Given the description of an element on the screen output the (x, y) to click on. 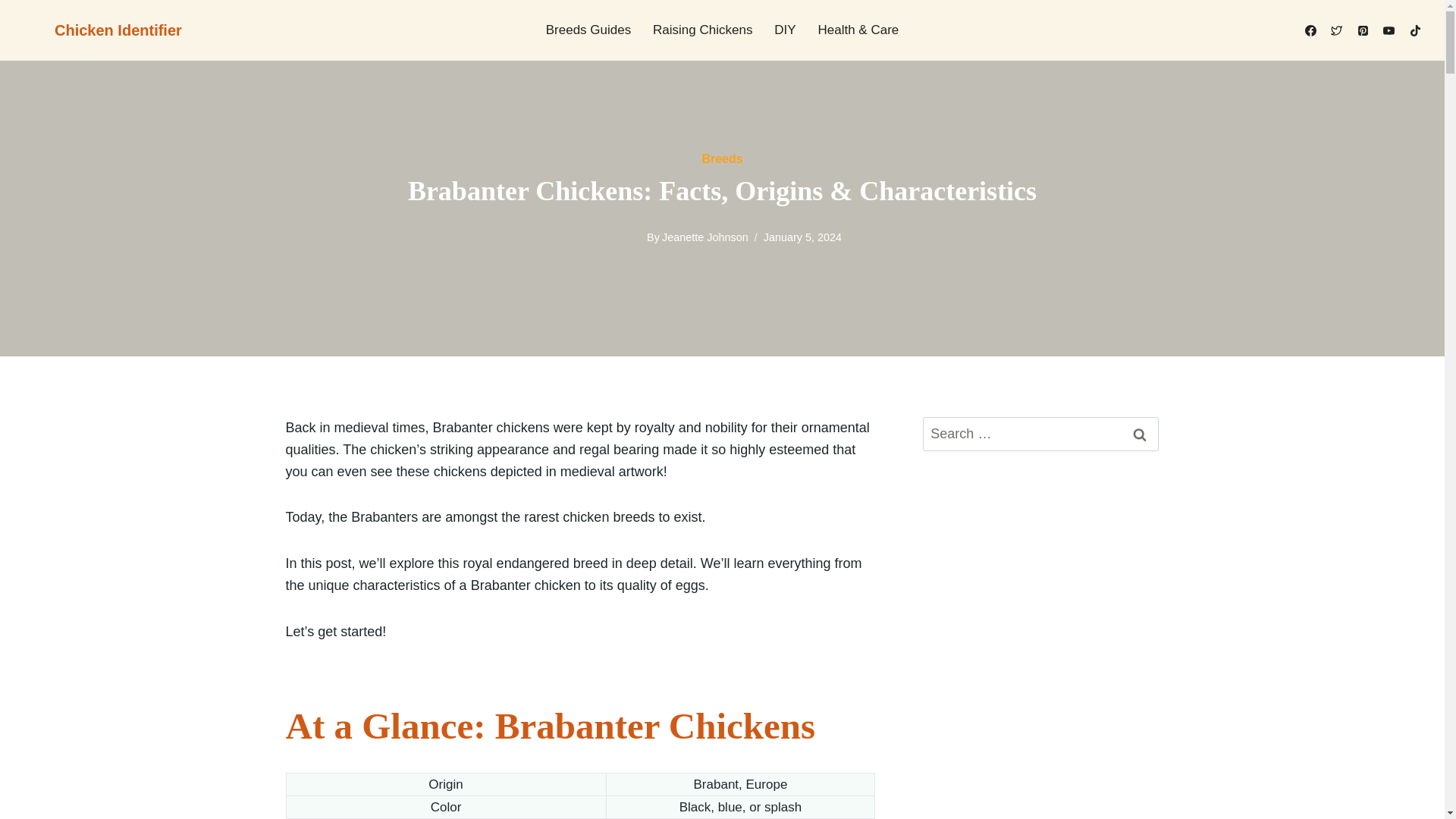
DIY (784, 30)
Search (1139, 433)
Raising Chickens (702, 30)
Search (1139, 433)
Breeds Guides (588, 30)
Breeds (721, 158)
Chicken Identifier (99, 29)
